Given the description of an element on the screen output the (x, y) to click on. 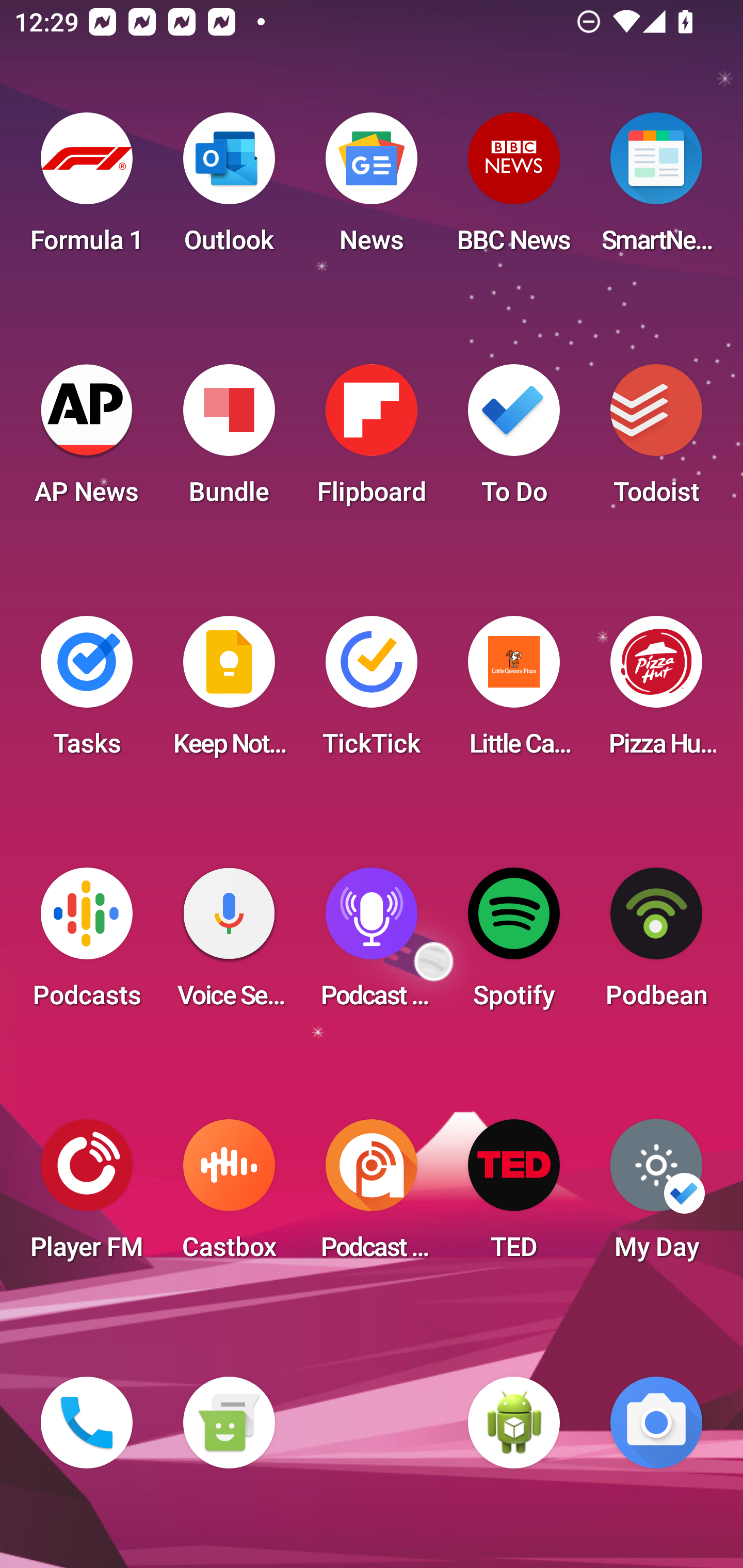
Formula 1 (86, 188)
Outlook (228, 188)
News (371, 188)
BBC News (513, 188)
SmartNews (656, 188)
AP News (86, 440)
Bundle (228, 440)
Flipboard (371, 440)
To Do (513, 440)
Todoist (656, 440)
Tasks (86, 692)
Keep Notes (228, 692)
TickTick (371, 692)
Little Caesars Pizza (513, 692)
Pizza Hut HK & Macau (656, 692)
Podcasts (86, 943)
Voice Search (228, 943)
Podcast Player (371, 943)
Spotify (513, 943)
Podbean (656, 943)
Player FM (86, 1195)
Castbox (228, 1195)
Podcast Addict (371, 1195)
TED (513, 1195)
My Day (656, 1195)
Phone (86, 1422)
Messaging (228, 1422)
WebView Browser Tester (513, 1422)
Camera (656, 1422)
